Given the description of an element on the screen output the (x, y) to click on. 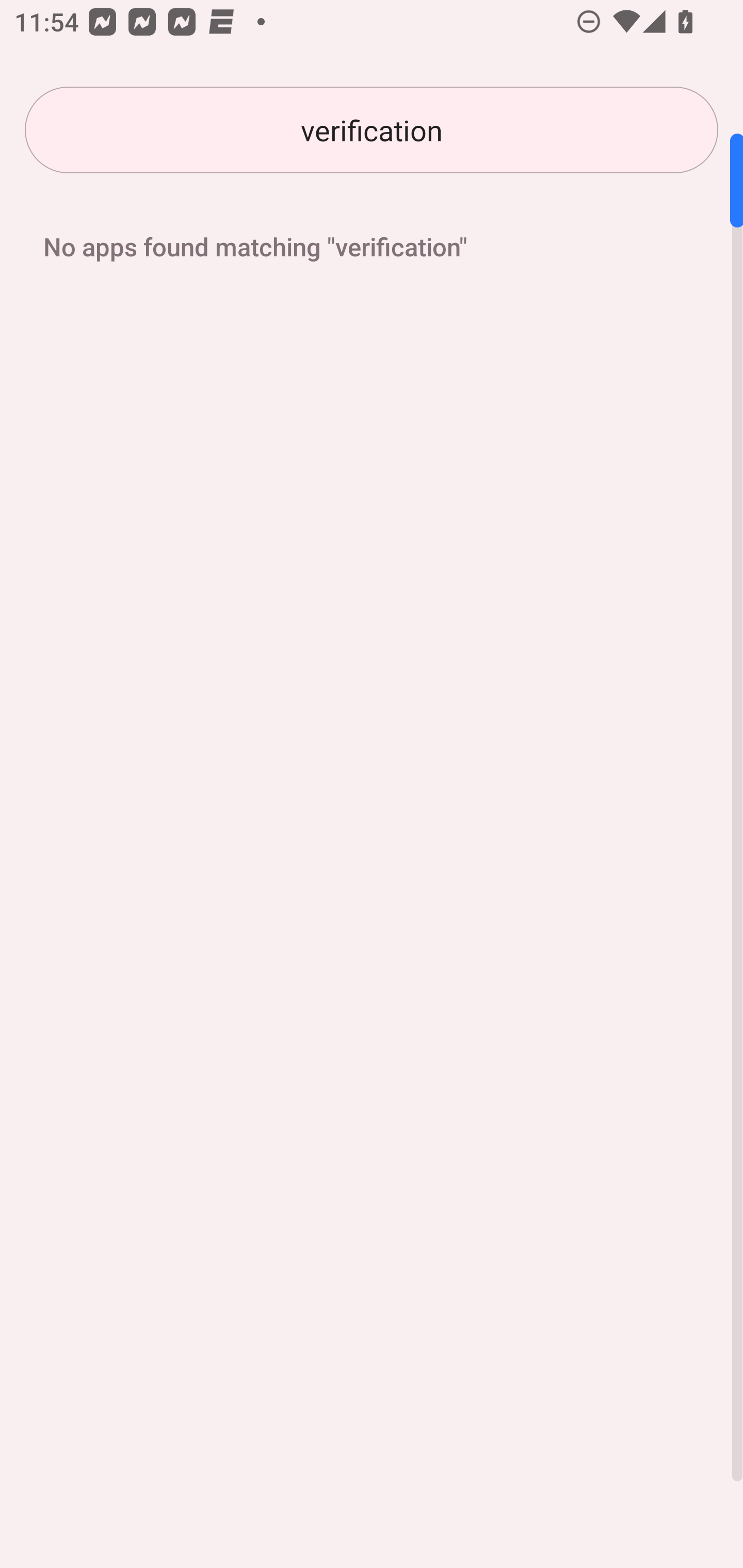
verification (371, 130)
